Given the description of an element on the screen output the (x, y) to click on. 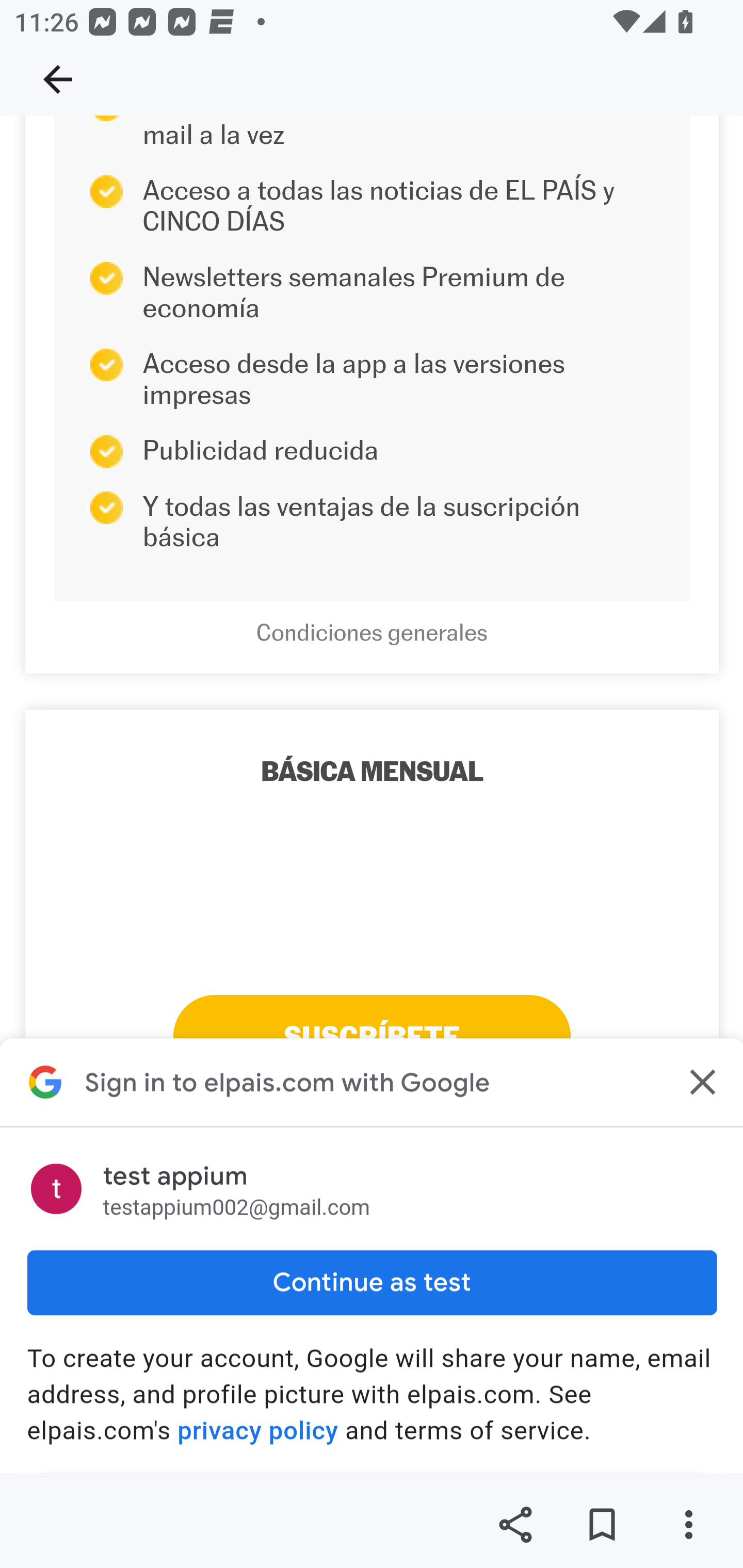
Navigate up (57, 79)
Condiciones generales (371, 633)
Close (700, 1081)
Continue as test (371, 1284)
privacy policy (257, 1431)
Share (514, 1524)
Save for later (601, 1524)
More options (688, 1524)
